Given the description of an element on the screen output the (x, y) to click on. 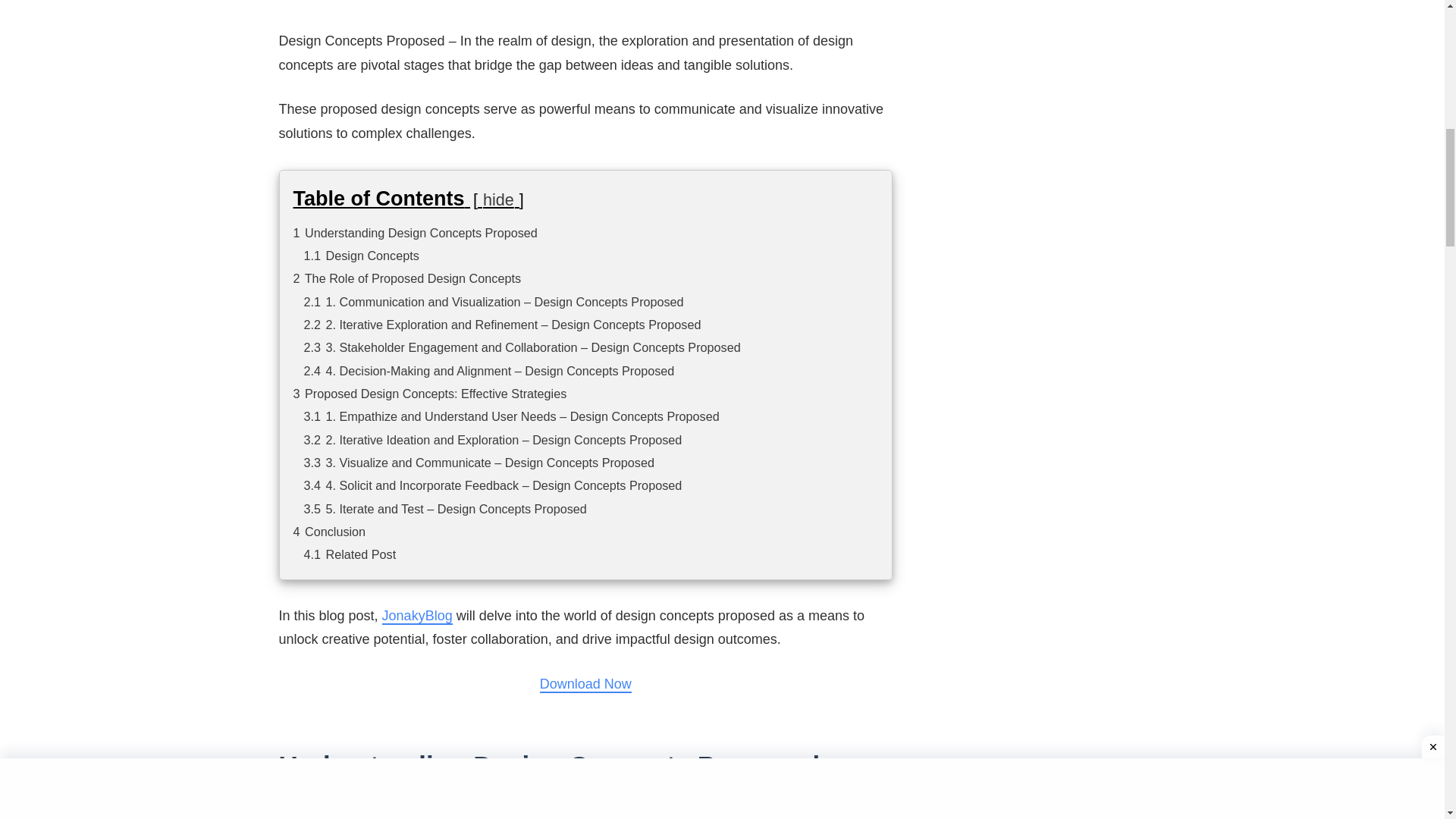
1 Understanding Design Concepts Proposed (414, 232)
hide (498, 199)
